Given the description of an element on the screen output the (x, y) to click on. 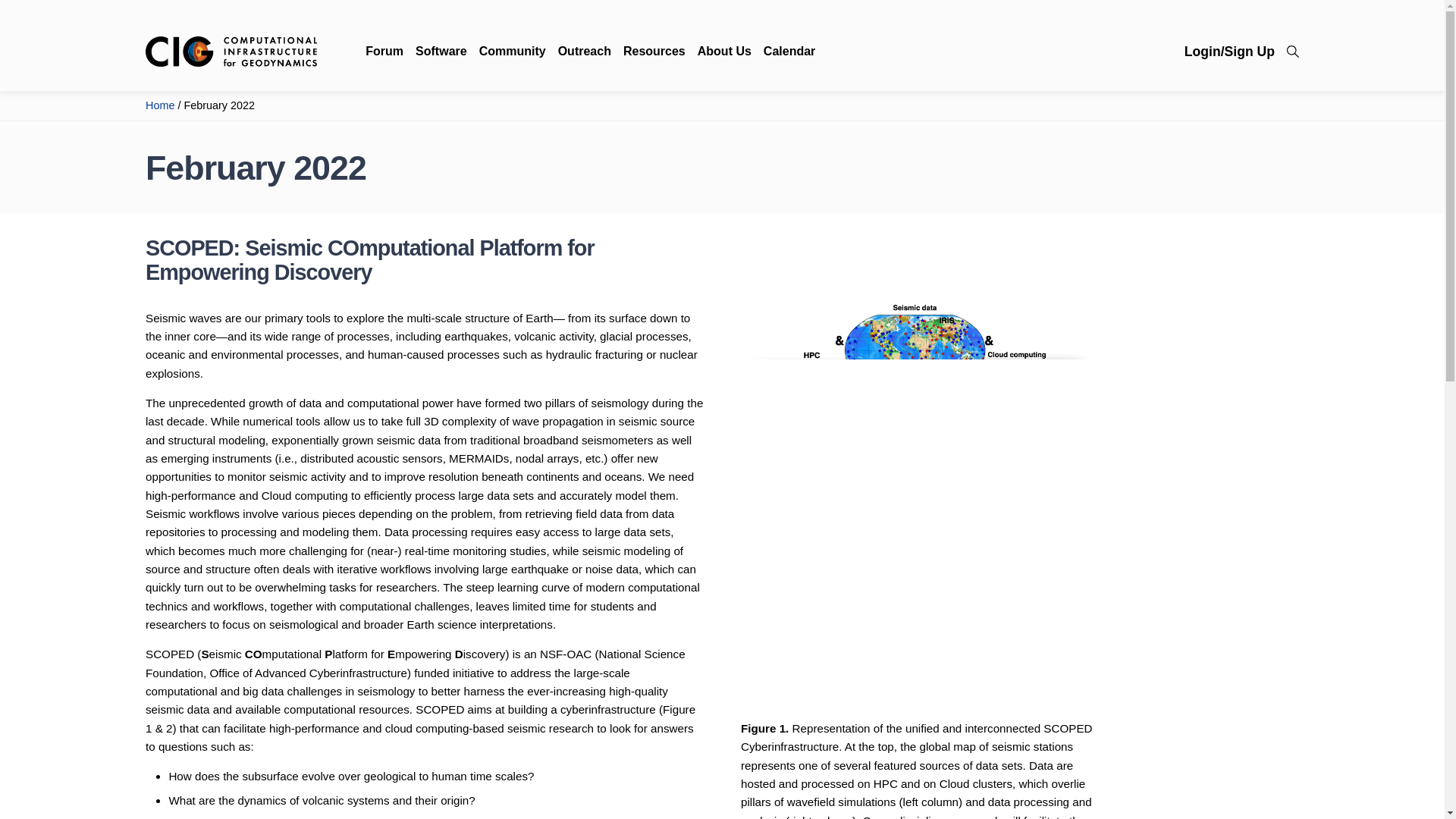
Login (1230, 51)
Resources (648, 50)
Community (506, 50)
Outreach (578, 50)
Geodynamics (231, 50)
Forum (384, 50)
Software (435, 50)
